Given the description of an element on the screen output the (x, y) to click on. 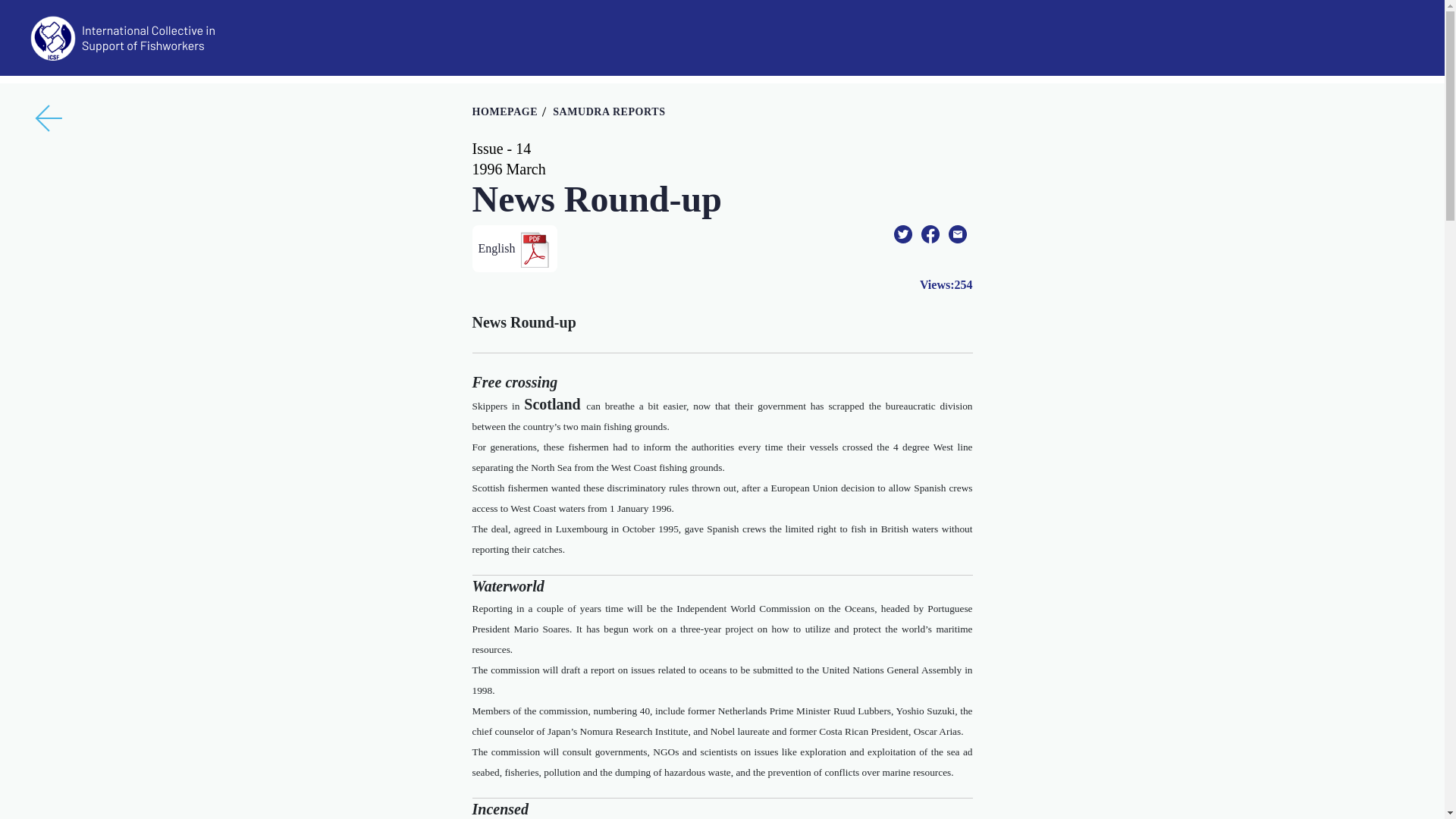
HOMEPAGE (504, 111)
Samudra Reports (609, 111)
Homepage (504, 111)
SAMUDRA REPORTS (609, 111)
English   (514, 248)
